Given the description of an element on the screen output the (x, y) to click on. 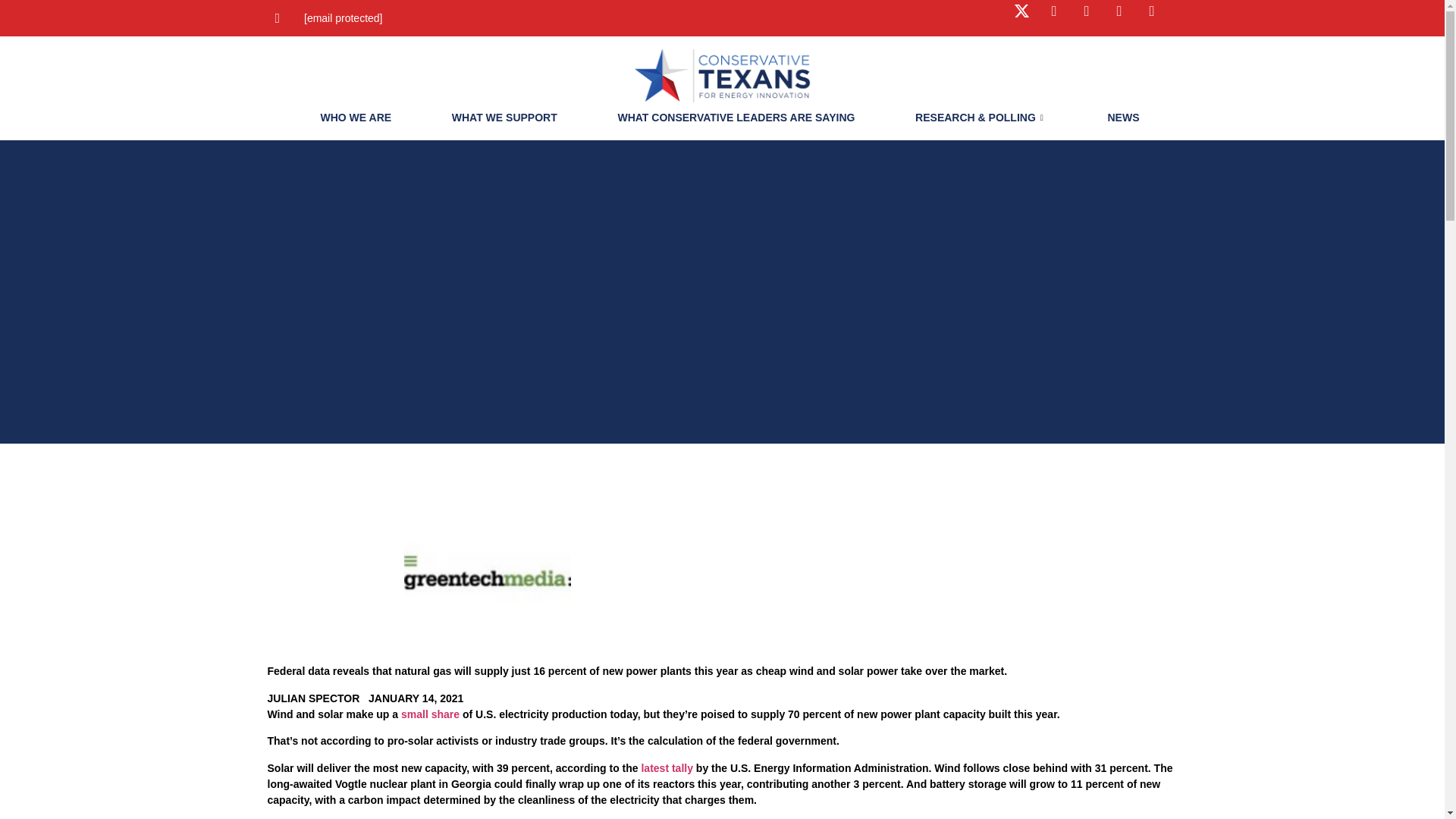
WHAT CONSERVATIVE LEADERS ARE SAYING (728, 117)
NEWS (1115, 117)
WHO WE ARE (347, 117)
WHAT WE SUPPORT (496, 117)
